Given the description of an element on the screen output the (x, y) to click on. 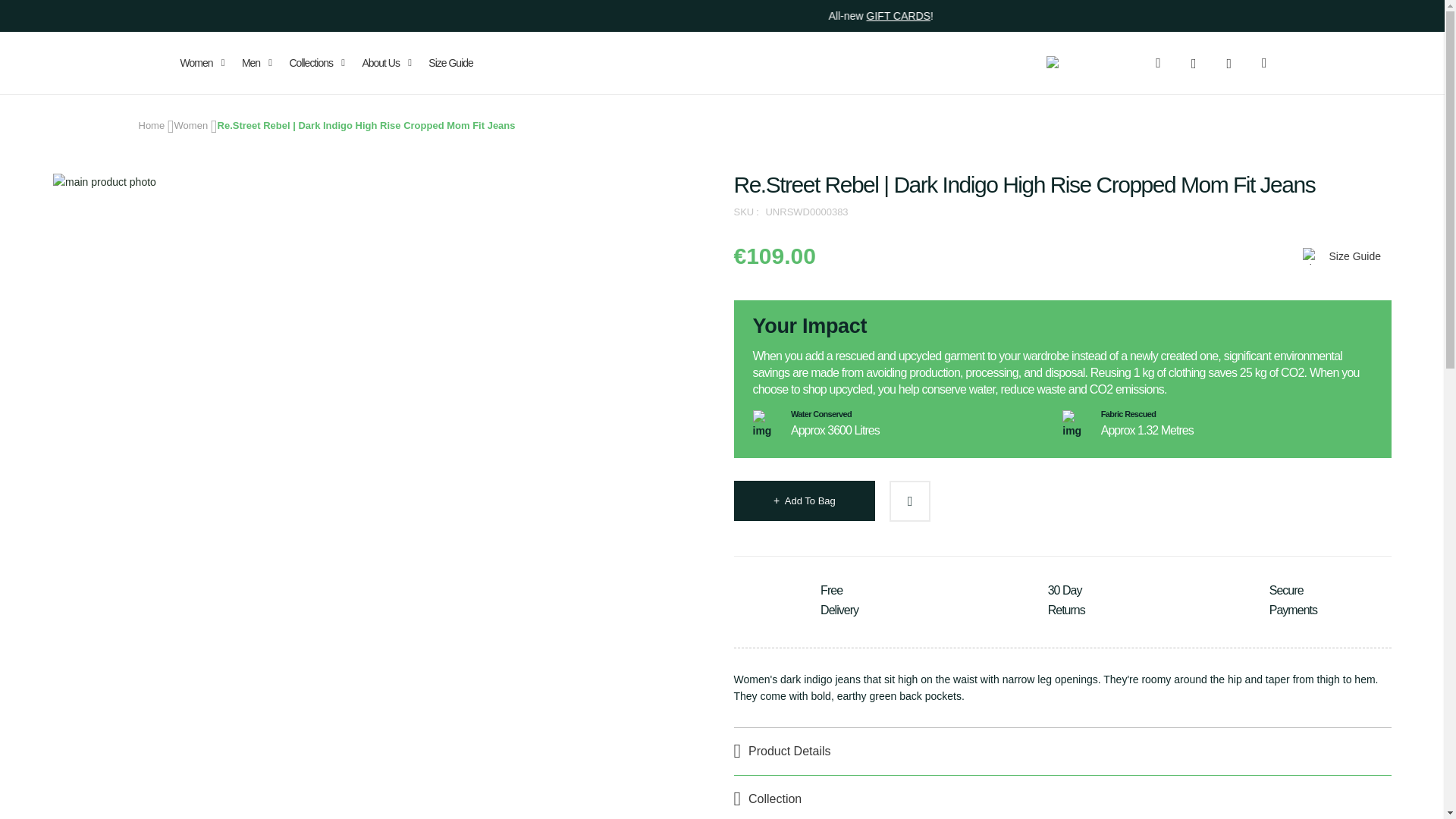
Women (191, 125)
Add to Wishlist (909, 500)
Size Guide (450, 62)
Women (204, 62)
Go to Home Page (151, 125)
add to bag (804, 500)
Collections (316, 62)
About Us (386, 62)
Size Guide (1340, 256)
Home (151, 125)
Men (256, 62)
